Given the description of an element on the screen output the (x, y) to click on. 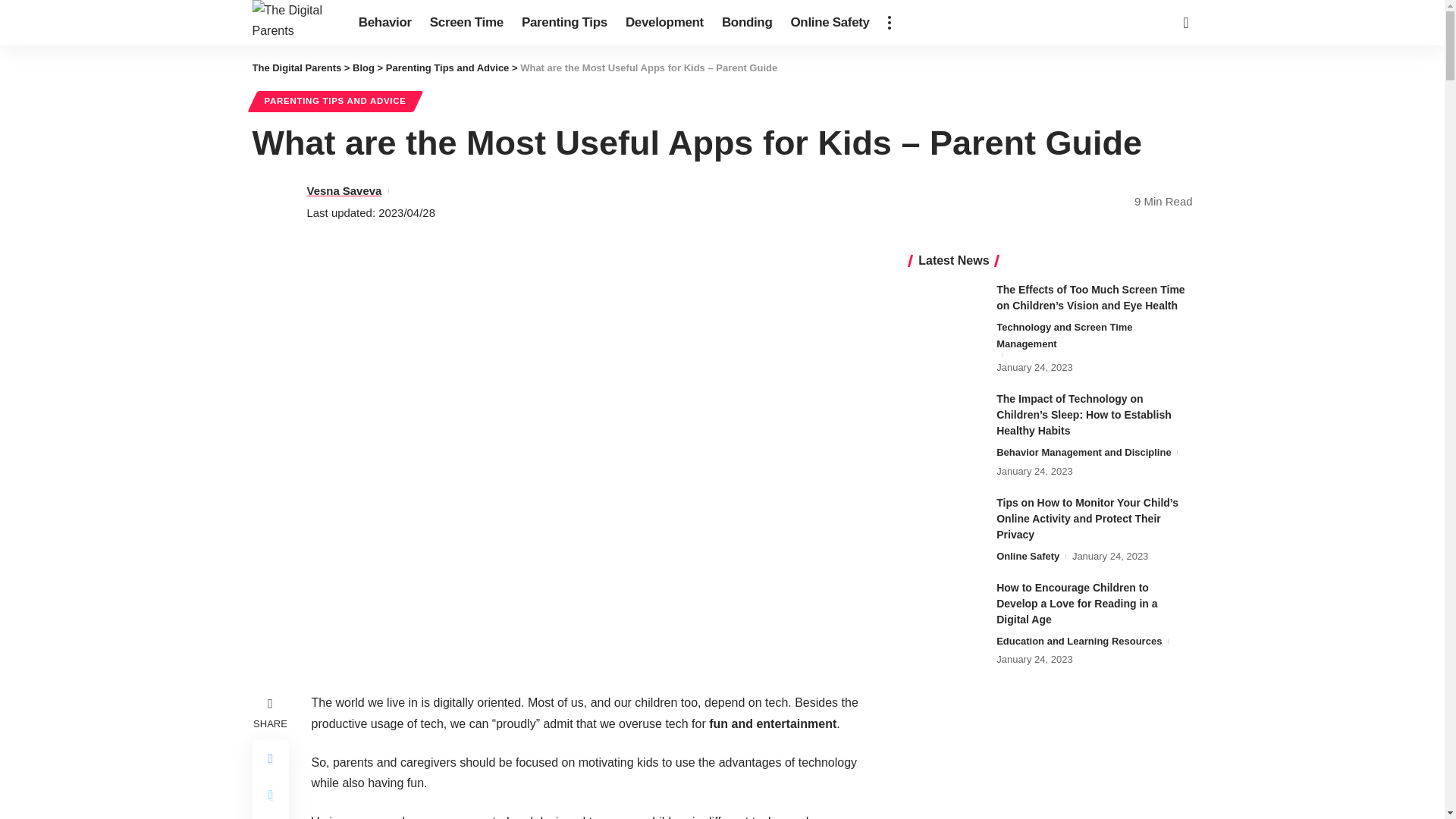
Development (664, 22)
Parenting Tips and Advice (447, 67)
Bonding (747, 22)
PARENTING TIPS AND ADVICE (334, 101)
Go to the Parenting Tips and Advice Category archives. (447, 67)
Parenting Tips (563, 22)
Behavior (384, 22)
Online Safety (828, 22)
Screen Time (466, 22)
